Given the description of an element on the screen output the (x, y) to click on. 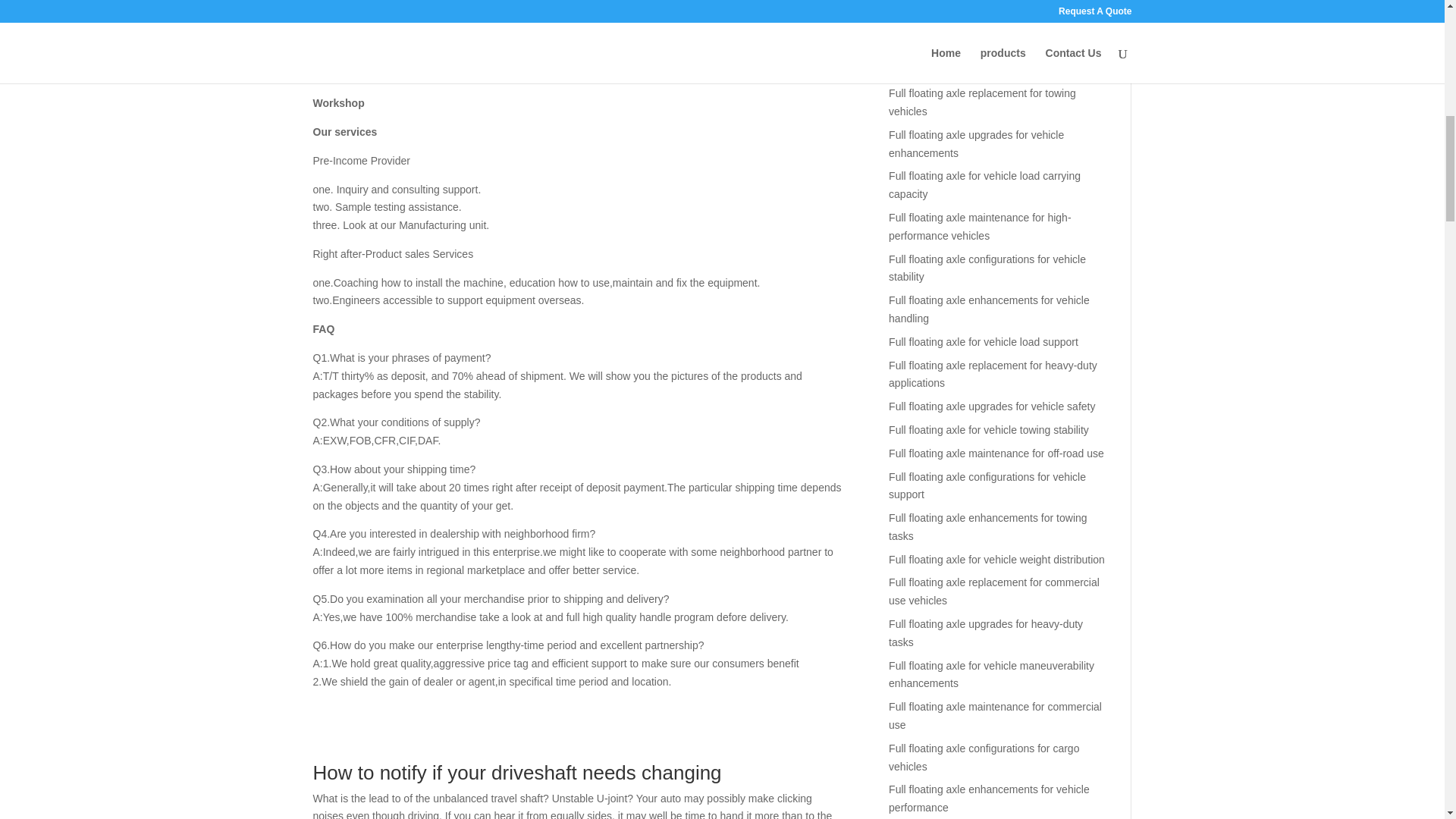
Full floating axle upgrades for vehicle enhancements (976, 143)
Full floating axle replacement for towing vehicles (981, 101)
Full floating axle for vehicle load support (983, 341)
Full floating axle maintenance for off-road use (995, 453)
Full floating axle for vehicle load carrying capacity (984, 184)
Full floating axle configurations for cargo vehicles (983, 757)
Full floating axle for vehicle weight distribution (996, 559)
Full floating axle maintenance for commercial use (995, 716)
Full floating axle enhancements for towing tasks (987, 526)
Full floating axle upgrades for heavy-duty tasks (985, 633)
